Given the description of an element on the screen output the (x, y) to click on. 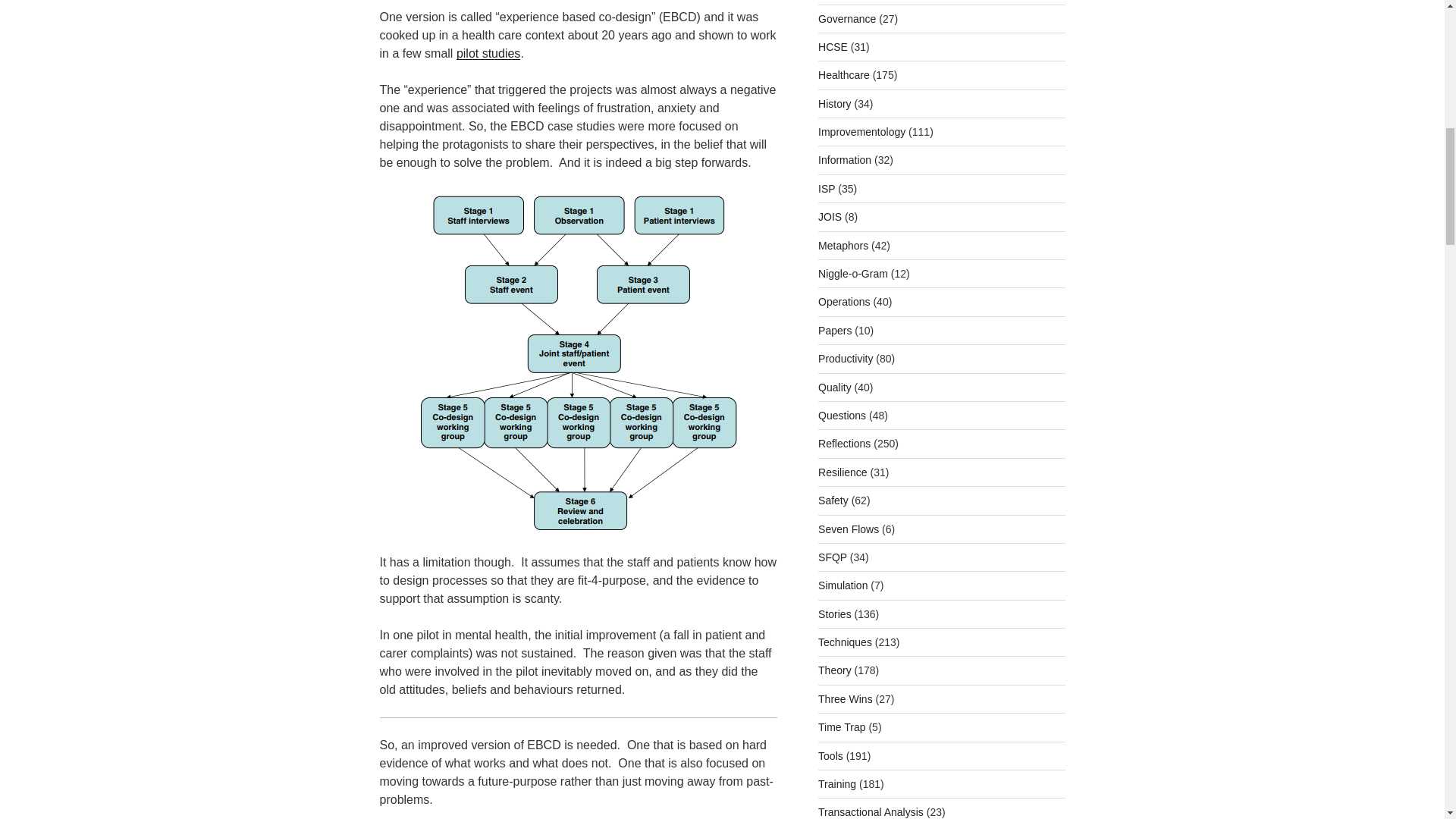
Healthcare (843, 74)
History (834, 103)
pilot studies (489, 52)
ISP (826, 188)
HCSE (832, 46)
Information (844, 159)
Improvementology (861, 132)
Governance (847, 18)
